Given the description of an element on the screen output the (x, y) to click on. 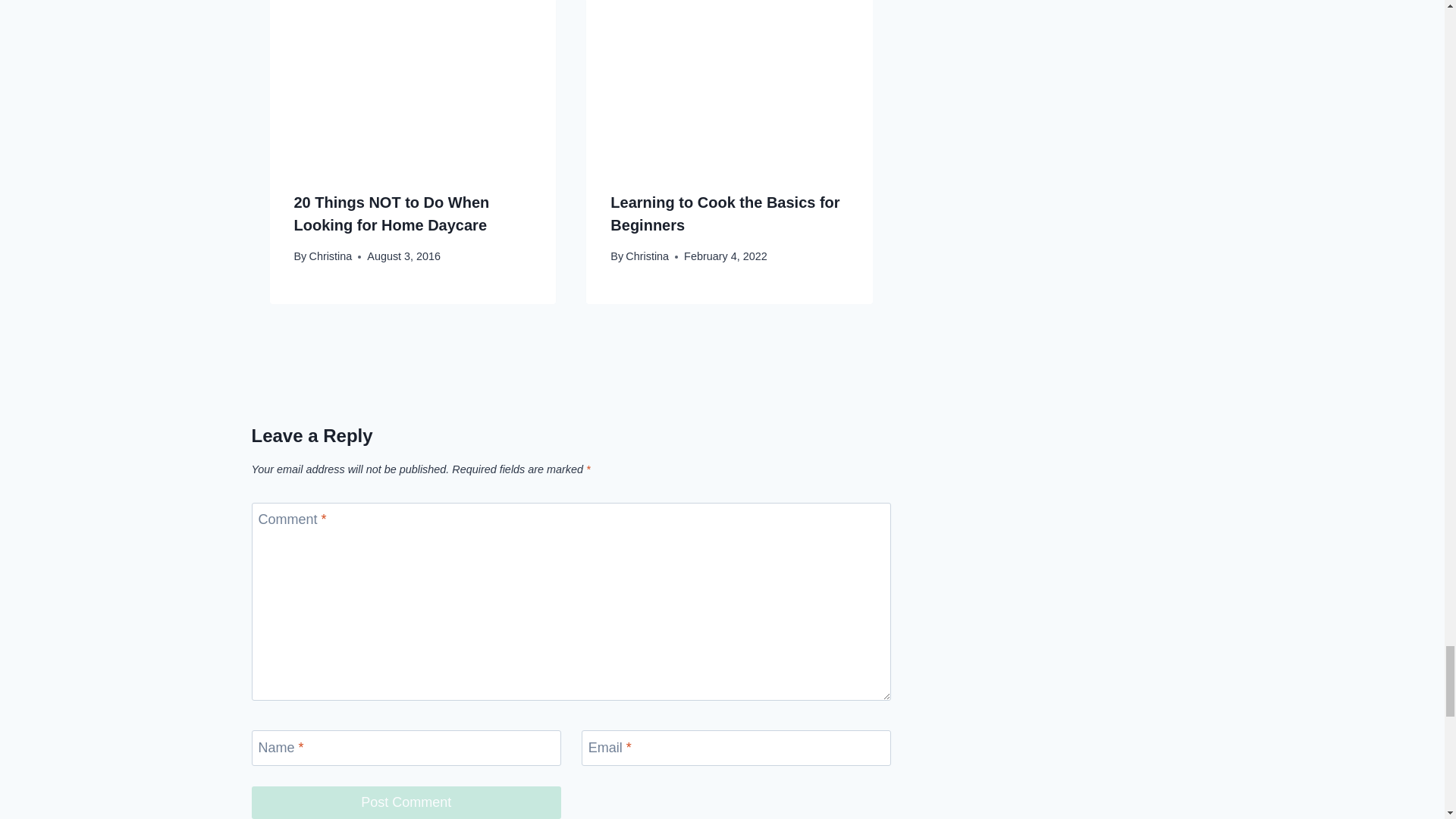
Post Comment (405, 802)
